Given the description of an element on the screen output the (x, y) to click on. 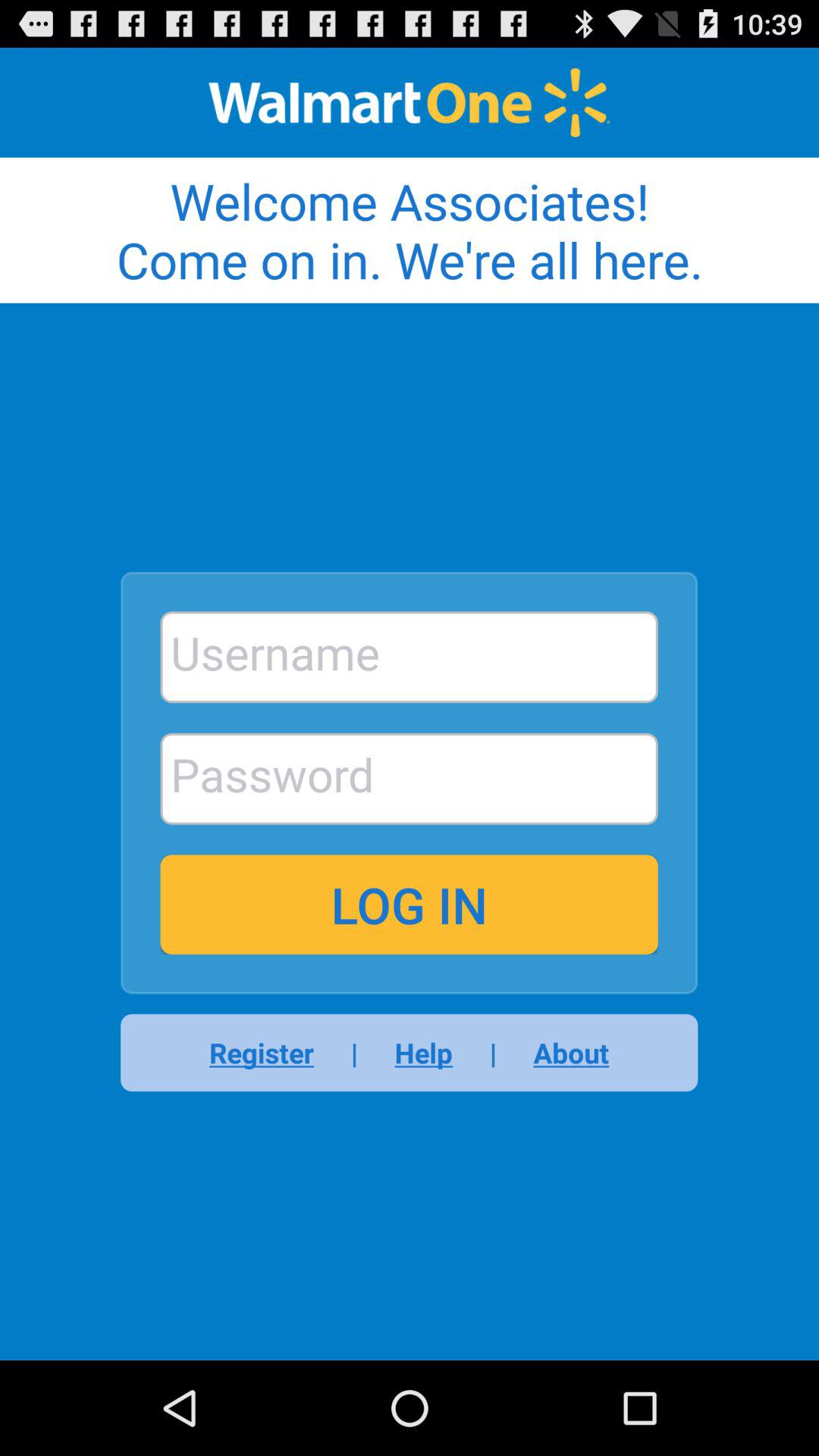
launch icon to the left of | item (423, 1052)
